Given the description of an element on the screen output the (x, y) to click on. 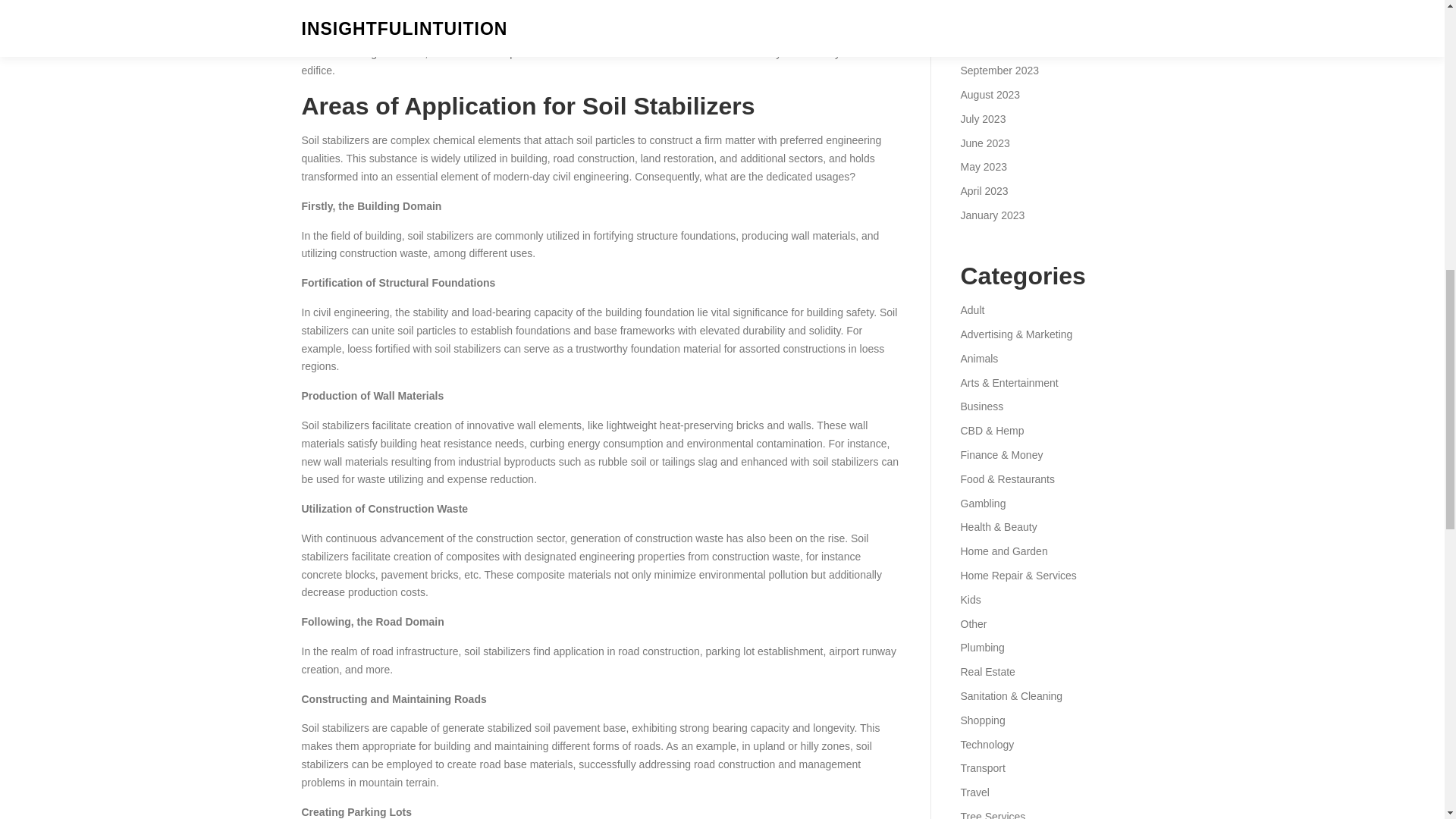
January 2023 (992, 215)
April 2023 (983, 191)
May 2023 (982, 166)
Business (981, 406)
October 2023 (992, 46)
November 2023 (997, 22)
July 2023 (982, 119)
June 2023 (984, 143)
Adult (971, 309)
Animals (978, 358)
